Given the description of an element on the screen output the (x, y) to click on. 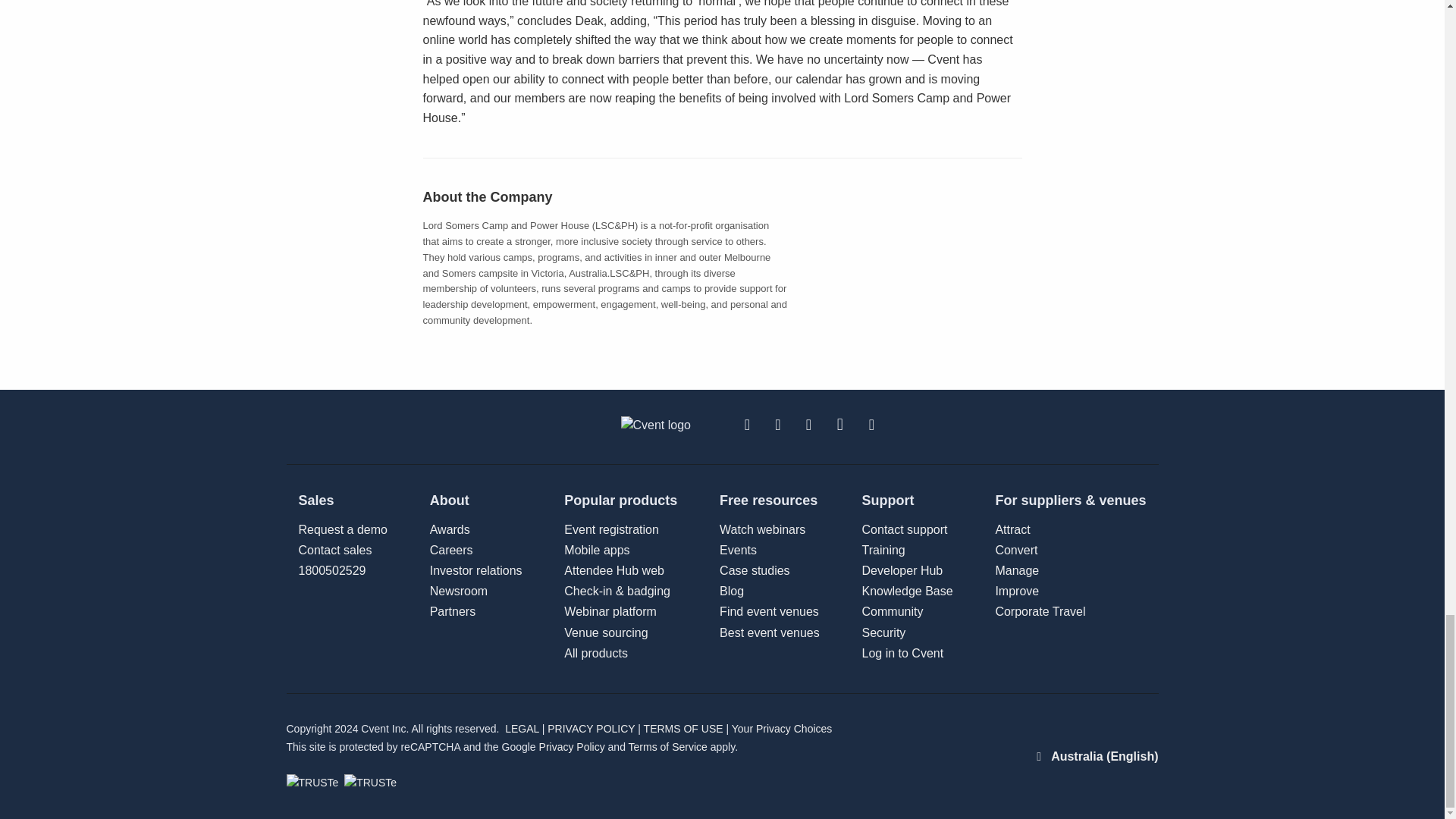
Sales (342, 500)
Partners (883, 549)
Popular products (620, 500)
